Given the description of an element on the screen output the (x, y) to click on. 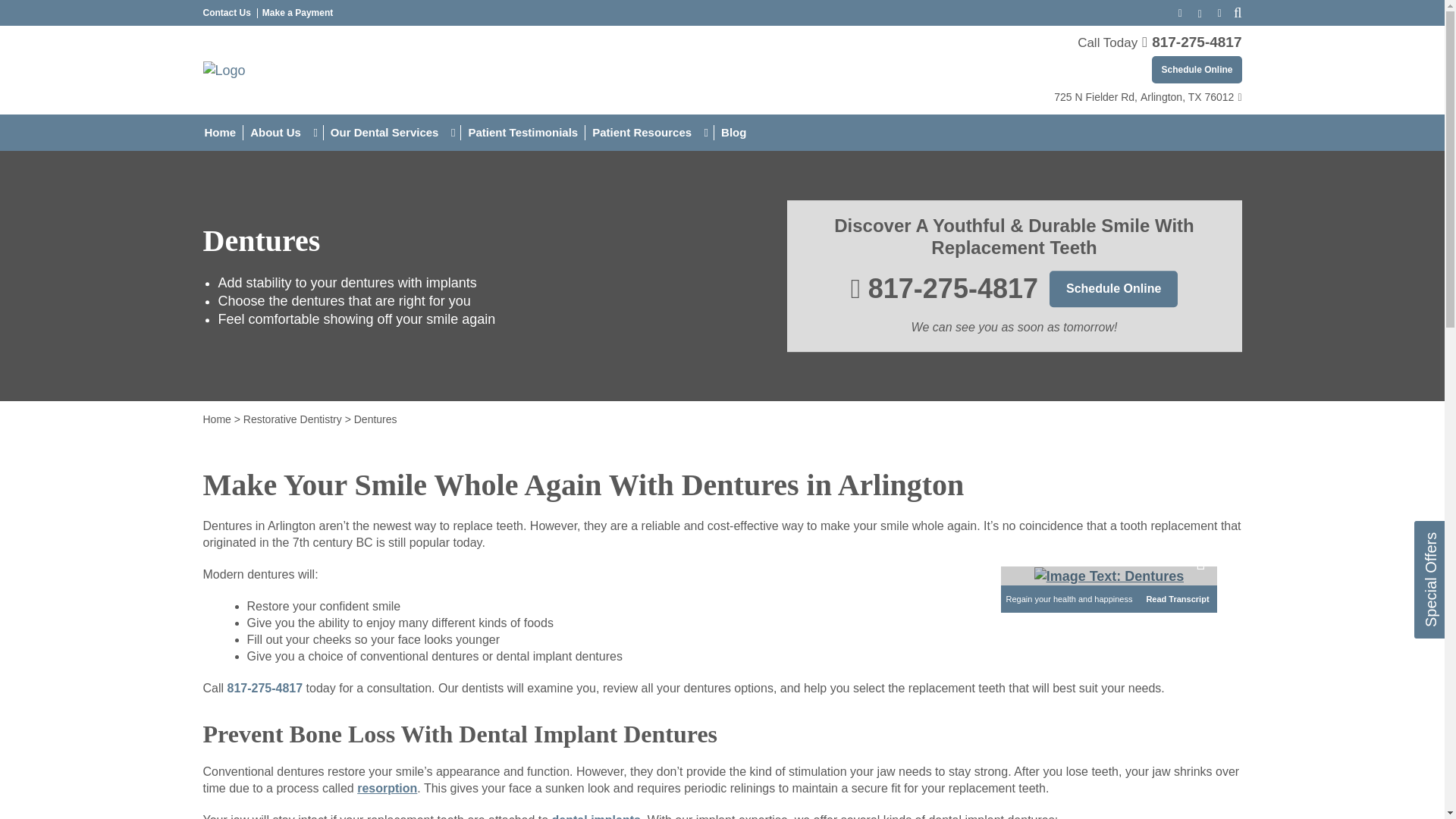
Regain your health and happiness (1109, 575)
Dentures (1109, 576)
Make a Payment (297, 12)
